Given the description of an element on the screen output the (x, y) to click on. 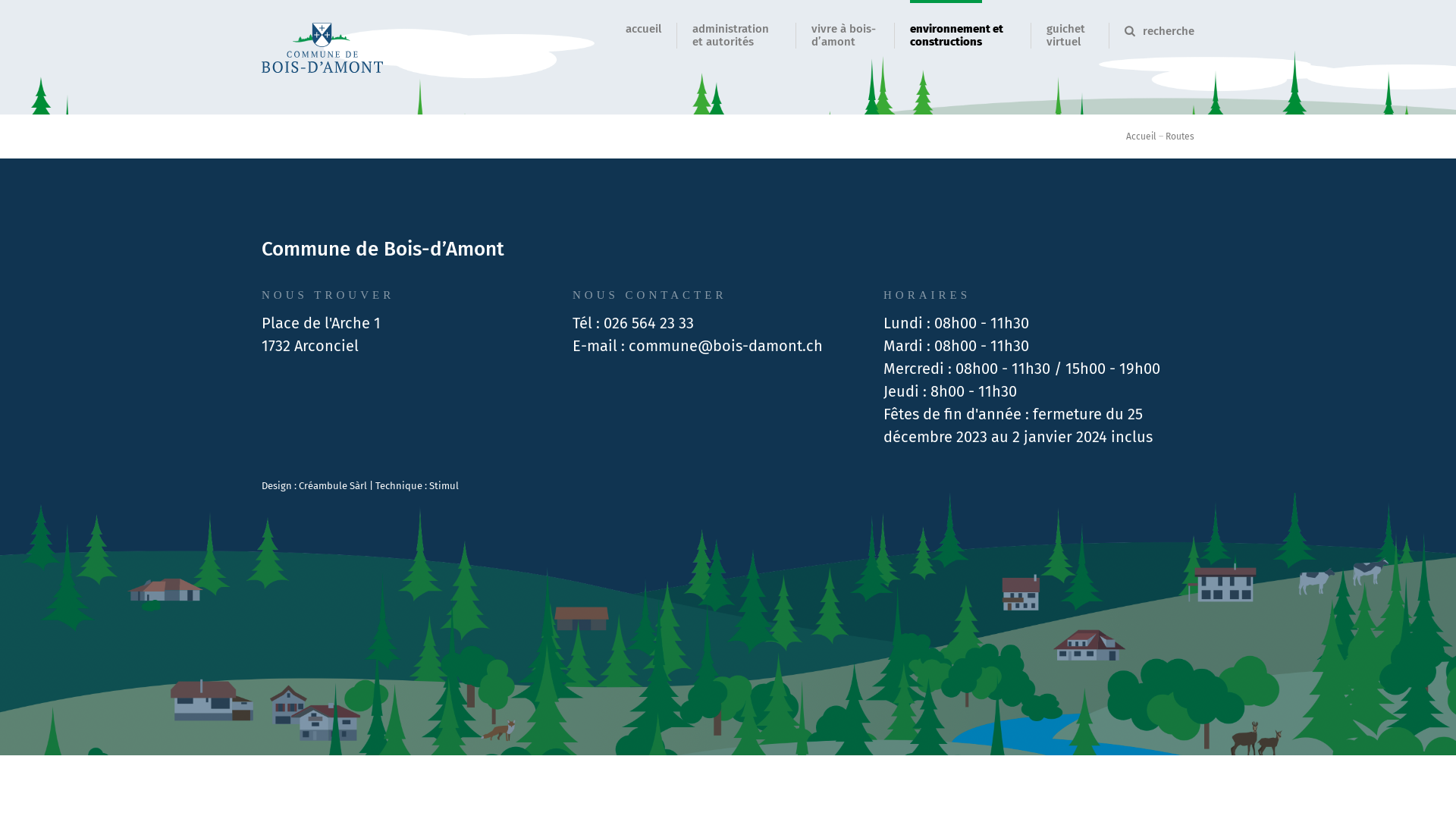
Accueil Element type: text (1141, 136)
guichet virtuel Element type: text (1065, 34)
accueil Element type: text (643, 28)
026 564 23 33 Element type: text (648, 321)
commune@bois-damont.ch Element type: text (725, 344)
environnement et constructions Element type: text (956, 34)
Stimul Element type: text (443, 484)
